Given the description of an element on the screen output the (x, y) to click on. 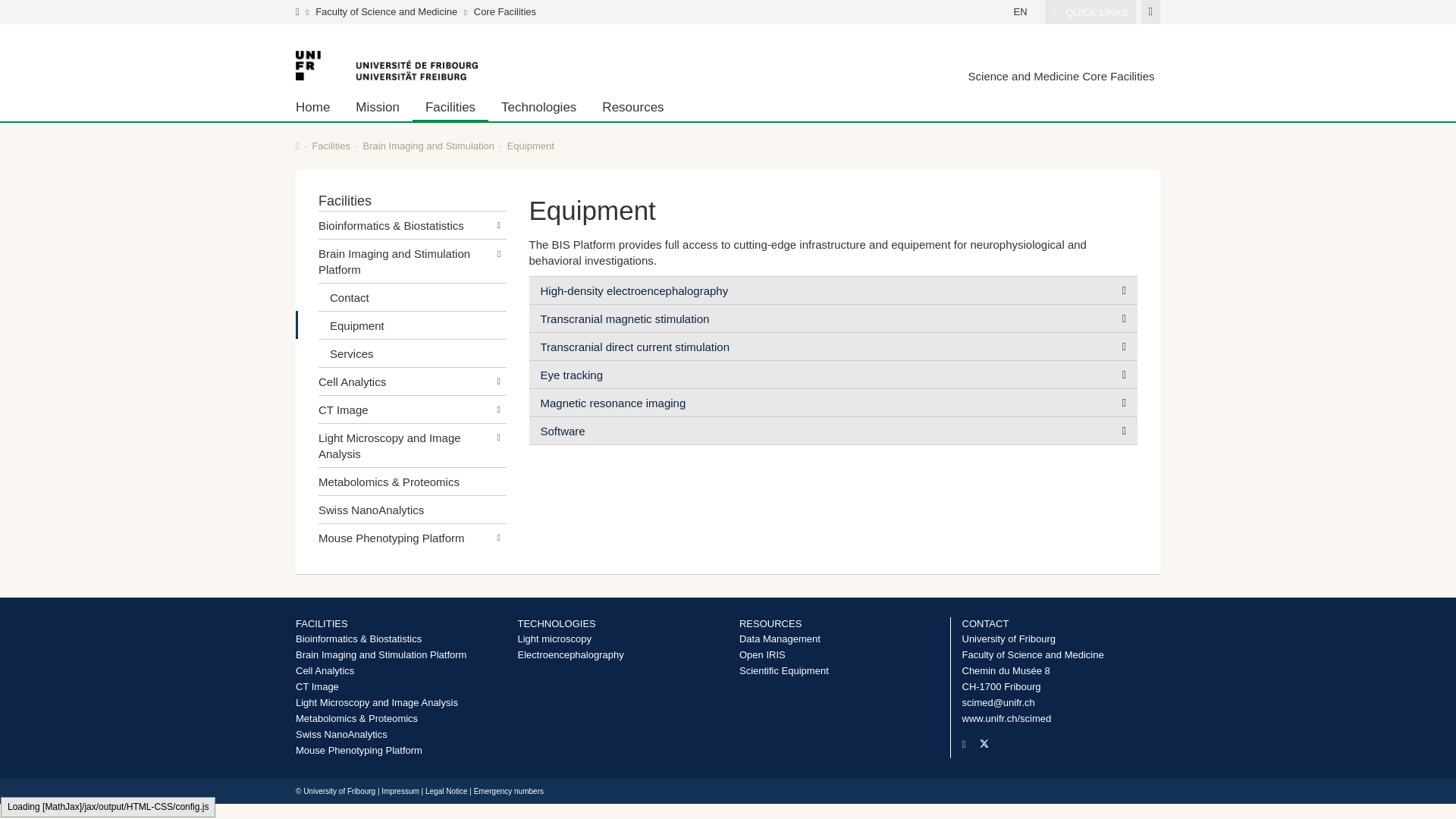
Home (318, 106)
Core Facilities (504, 11)
QUICK LINKS (1090, 12)
EN (1020, 11)
Faculty of Science and Medicine (386, 11)
Mission (377, 106)
